Given the description of an element on the screen output the (x, y) to click on. 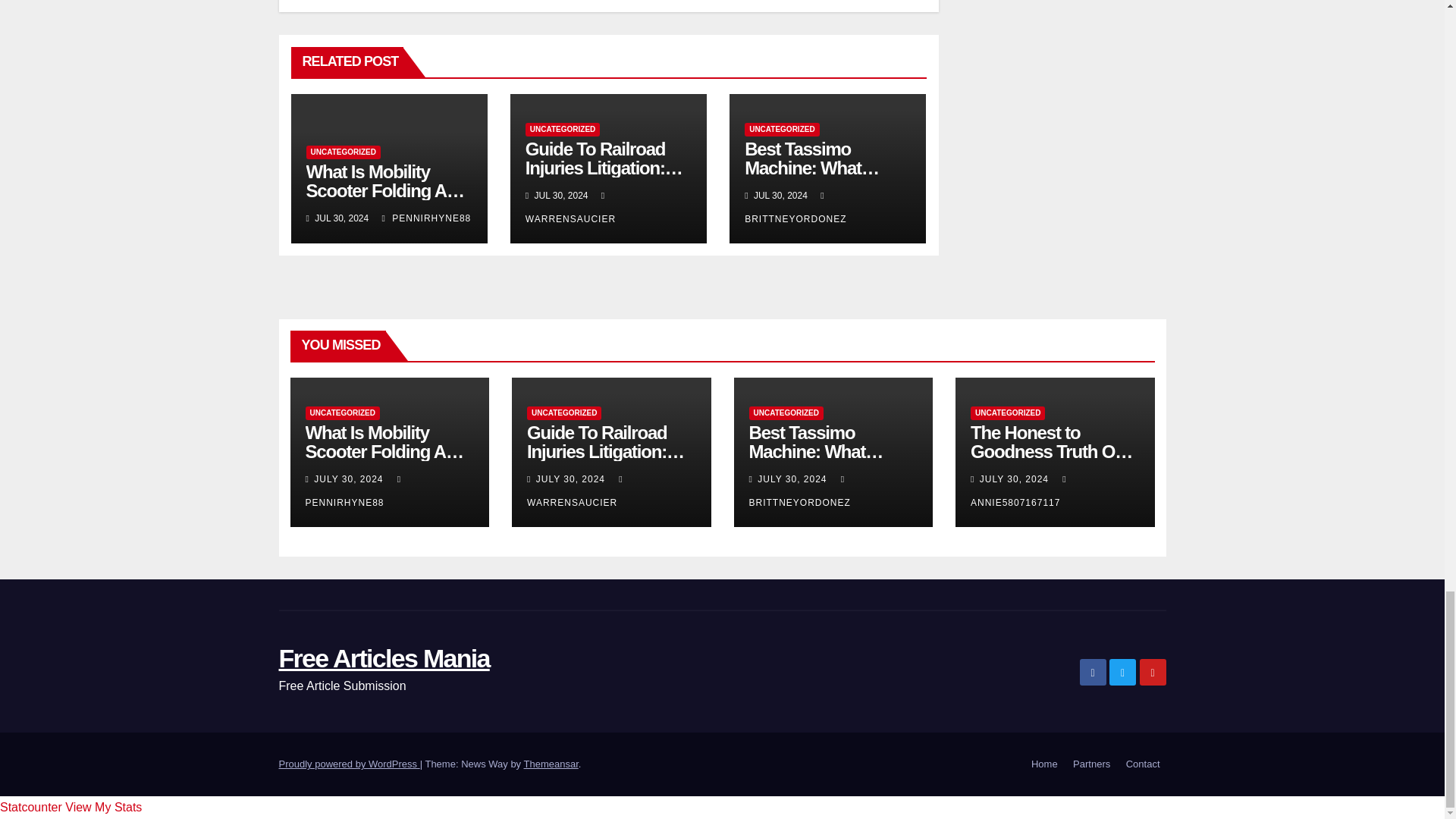
PENNIRHYNE88 (426, 217)
UNCATEGORIZED (562, 129)
UNCATEGORIZED (342, 151)
